Given the description of an element on the screen output the (x, y) to click on. 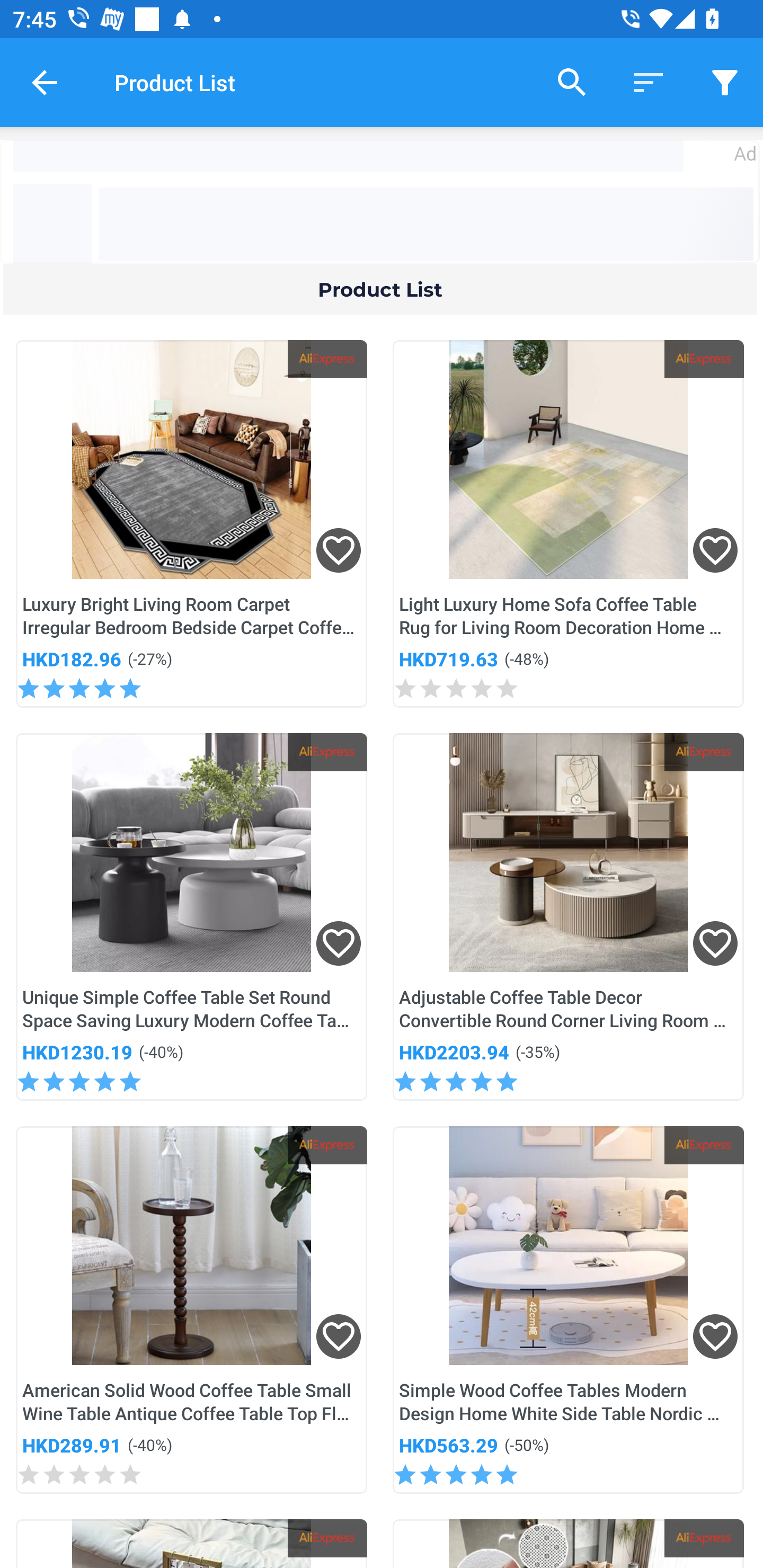
Navigate up (44, 82)
Search (572, 81)
short (648, 81)
short (724, 81)
